Given the description of an element on the screen output the (x, y) to click on. 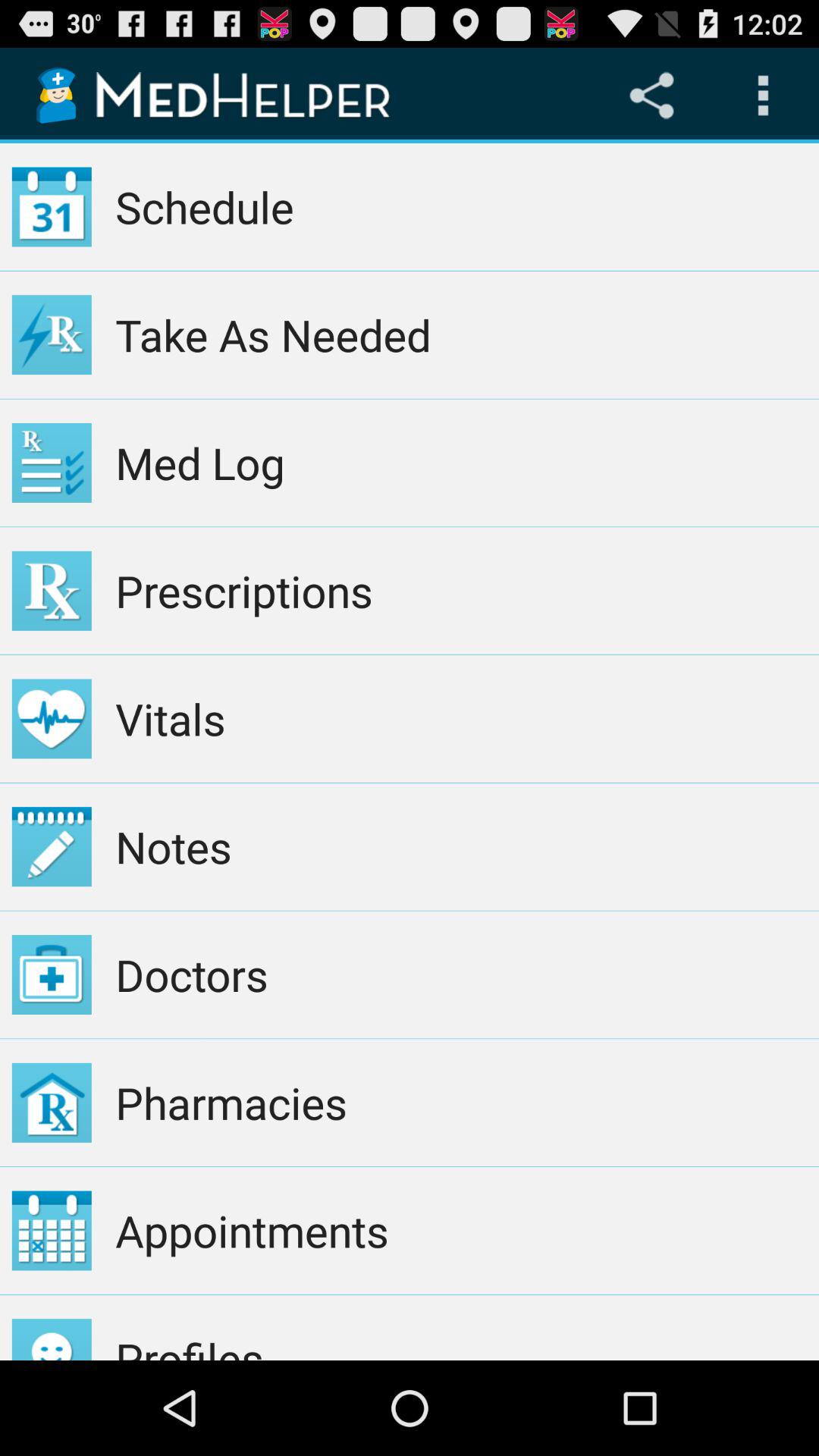
select the prescriptions item (461, 590)
